Given the description of an element on the screen output the (x, y) to click on. 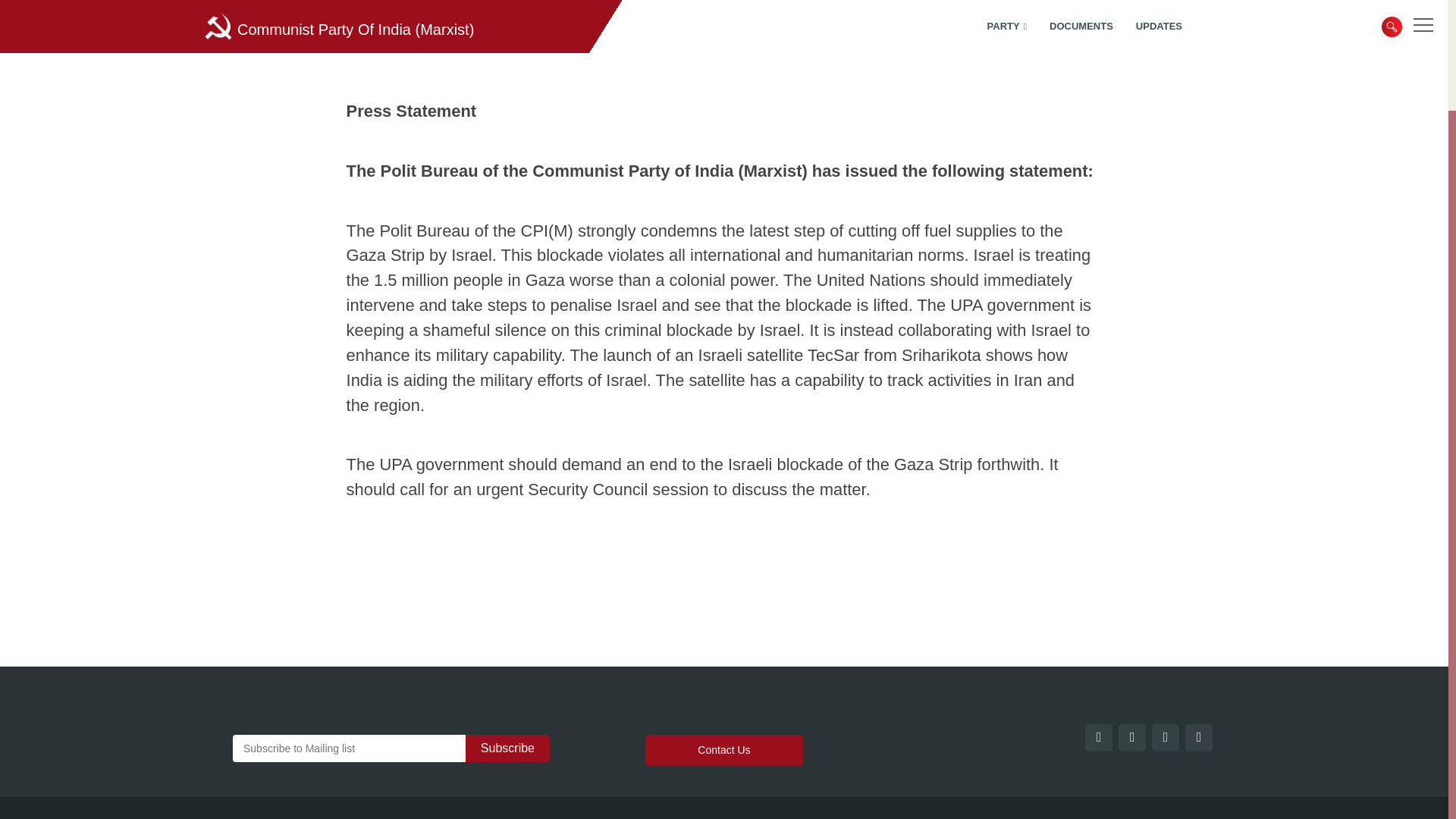
X (1117, 12)
Facebook (1084, 12)
Whatsapp (1149, 12)
Subscribe (507, 748)
Subscribe (507, 748)
Contact Us (723, 749)
